Given the description of an element on the screen output the (x, y) to click on. 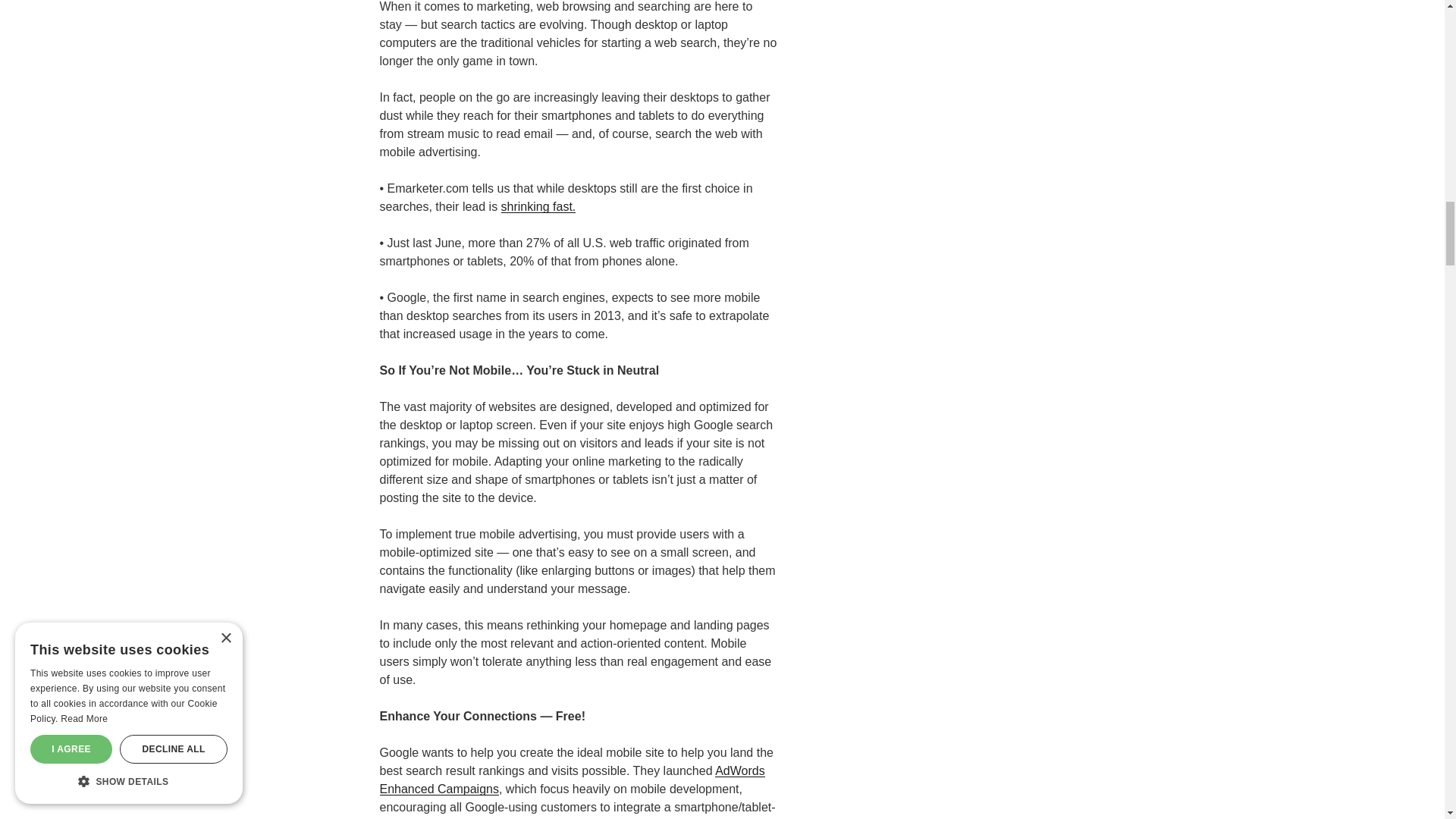
shrinking fast. (538, 205)
AdWords Enhanced Campaigns (571, 779)
